Given the description of an element on the screen output the (x, y) to click on. 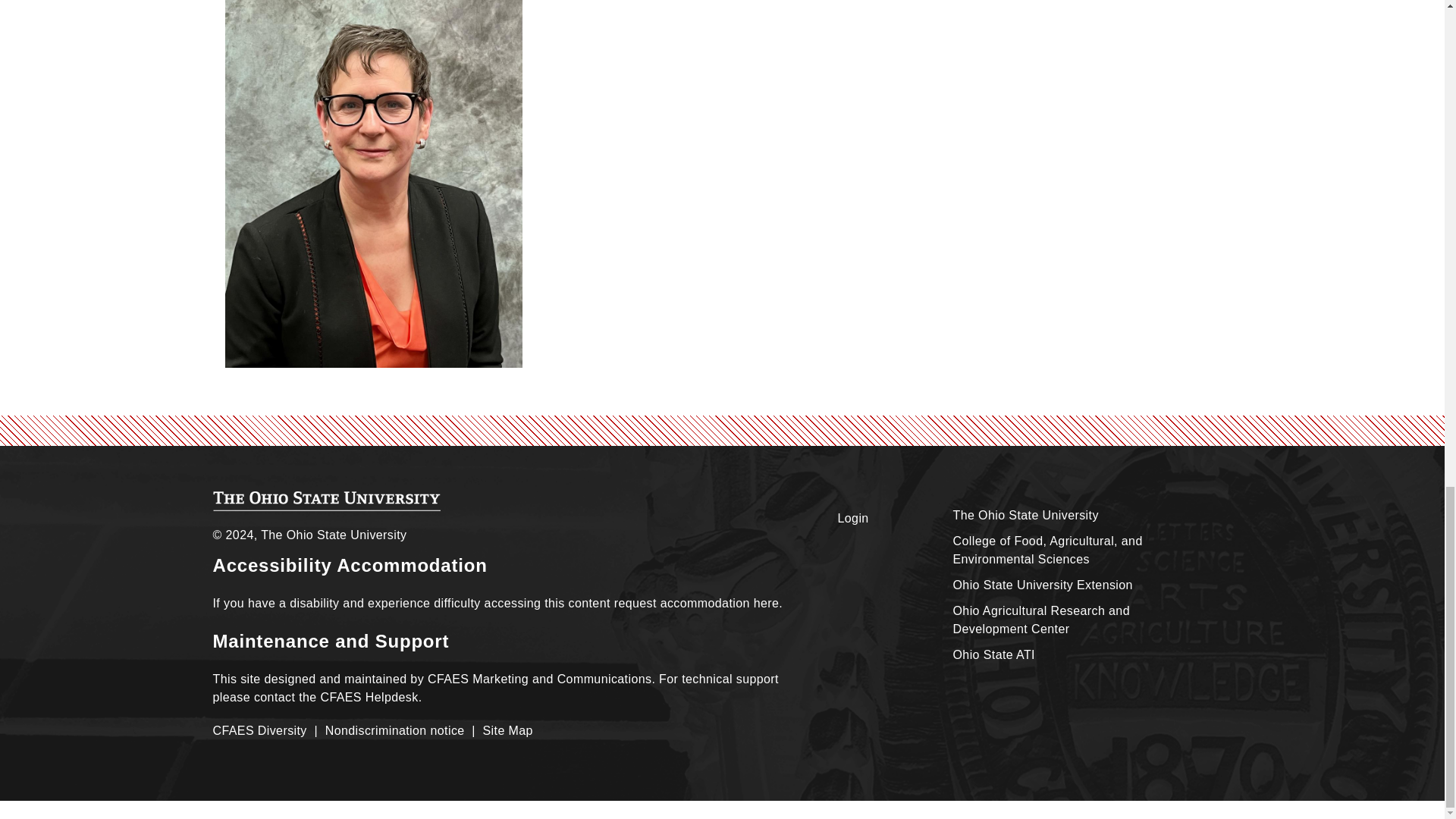
CFAES Home (325, 501)
